Given the description of an element on the screen output the (x, y) to click on. 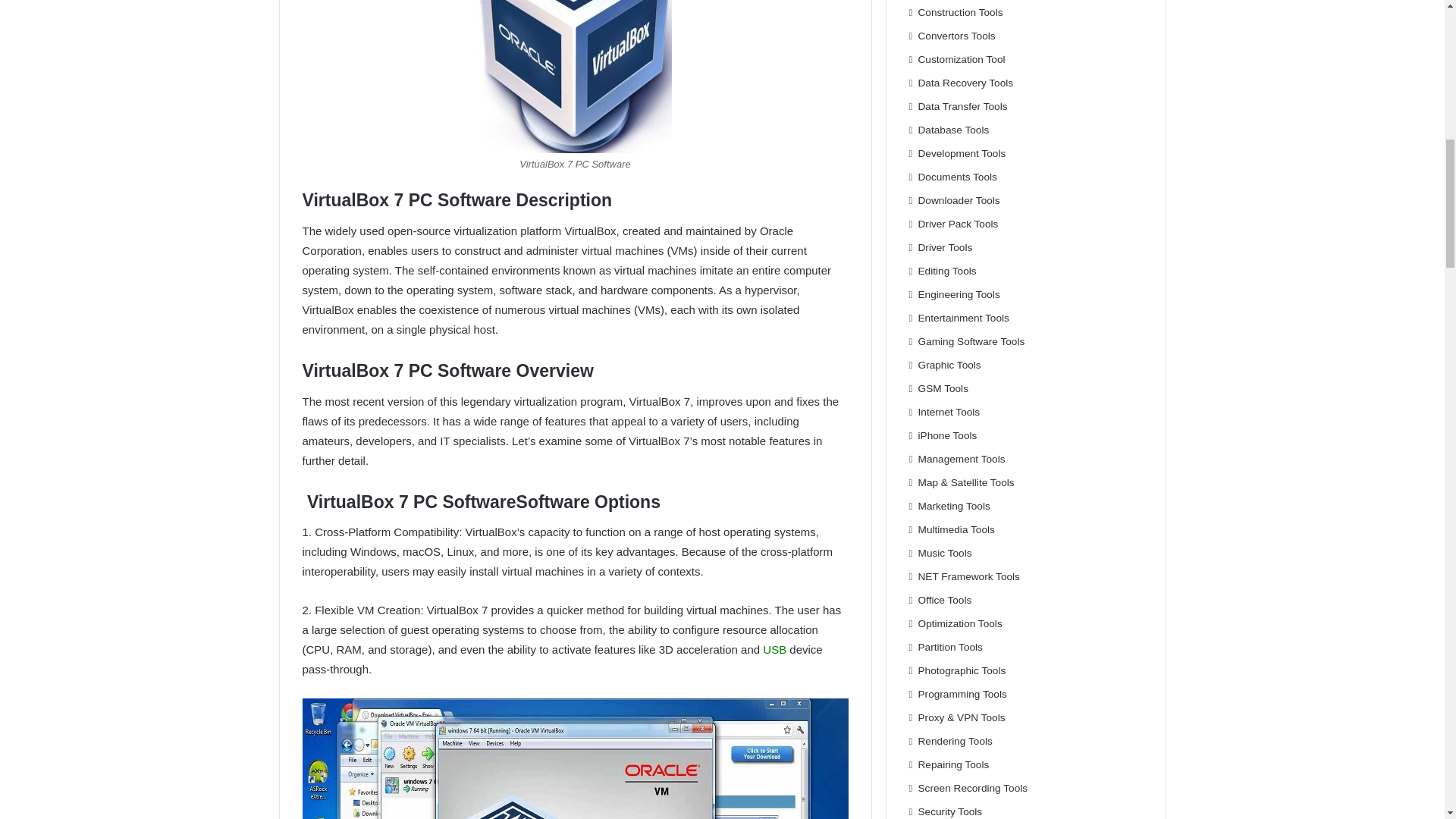
VirtualBox 7 PC Software (575, 76)
VirtualBox 7 PC Software With Crack (574, 758)
USB (774, 649)
